Given the description of an element on the screen output the (x, y) to click on. 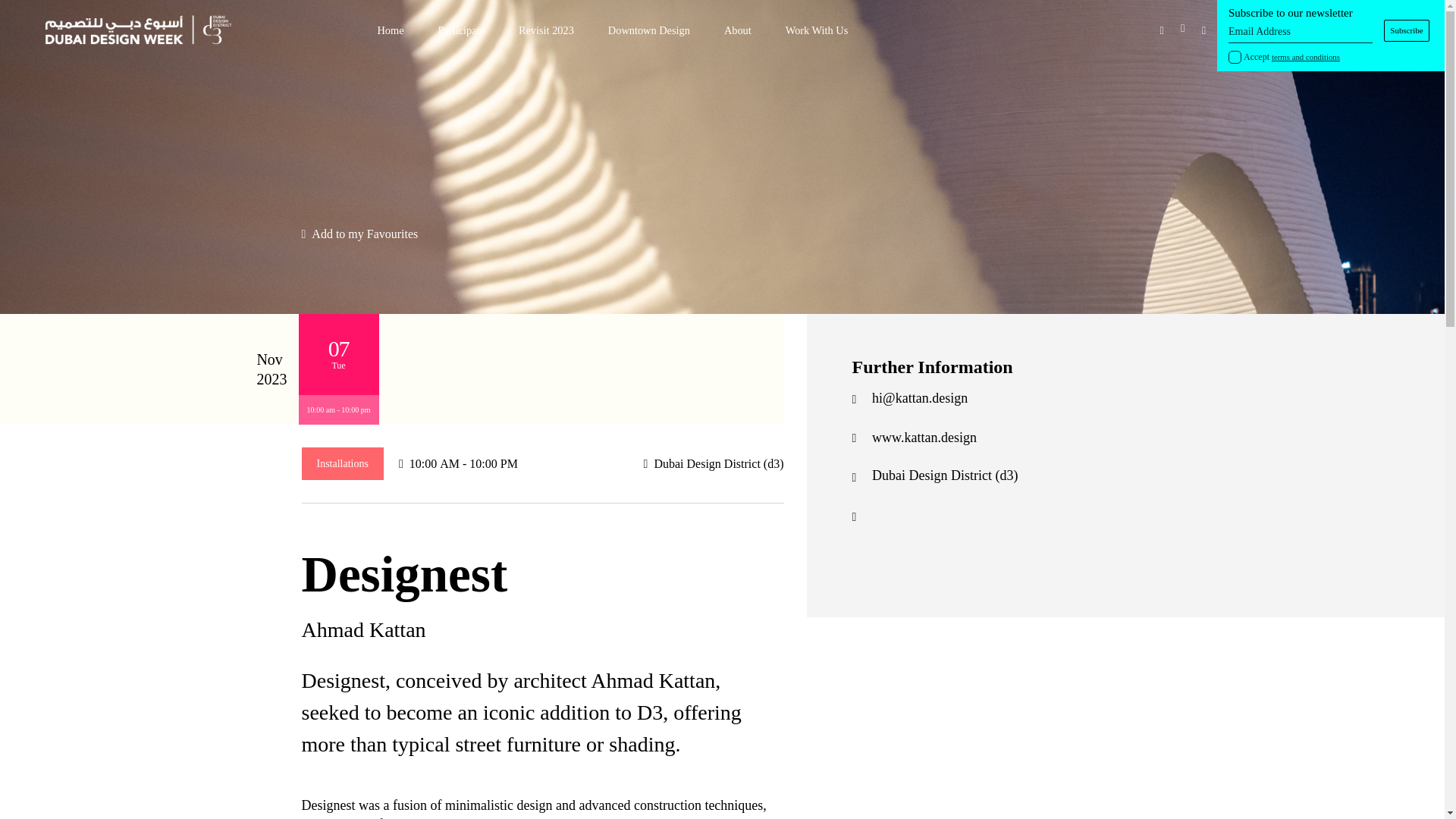
Subscribe (1406, 30)
  Add to my Favourites (360, 233)
Revisit 2023 (545, 30)
terms and conditions (1305, 56)
Work With Us (817, 30)
Downtown Design (649, 30)
Subscribe (1406, 30)
www.kattan.design (924, 437)
